Given the description of an element on the screen output the (x, y) to click on. 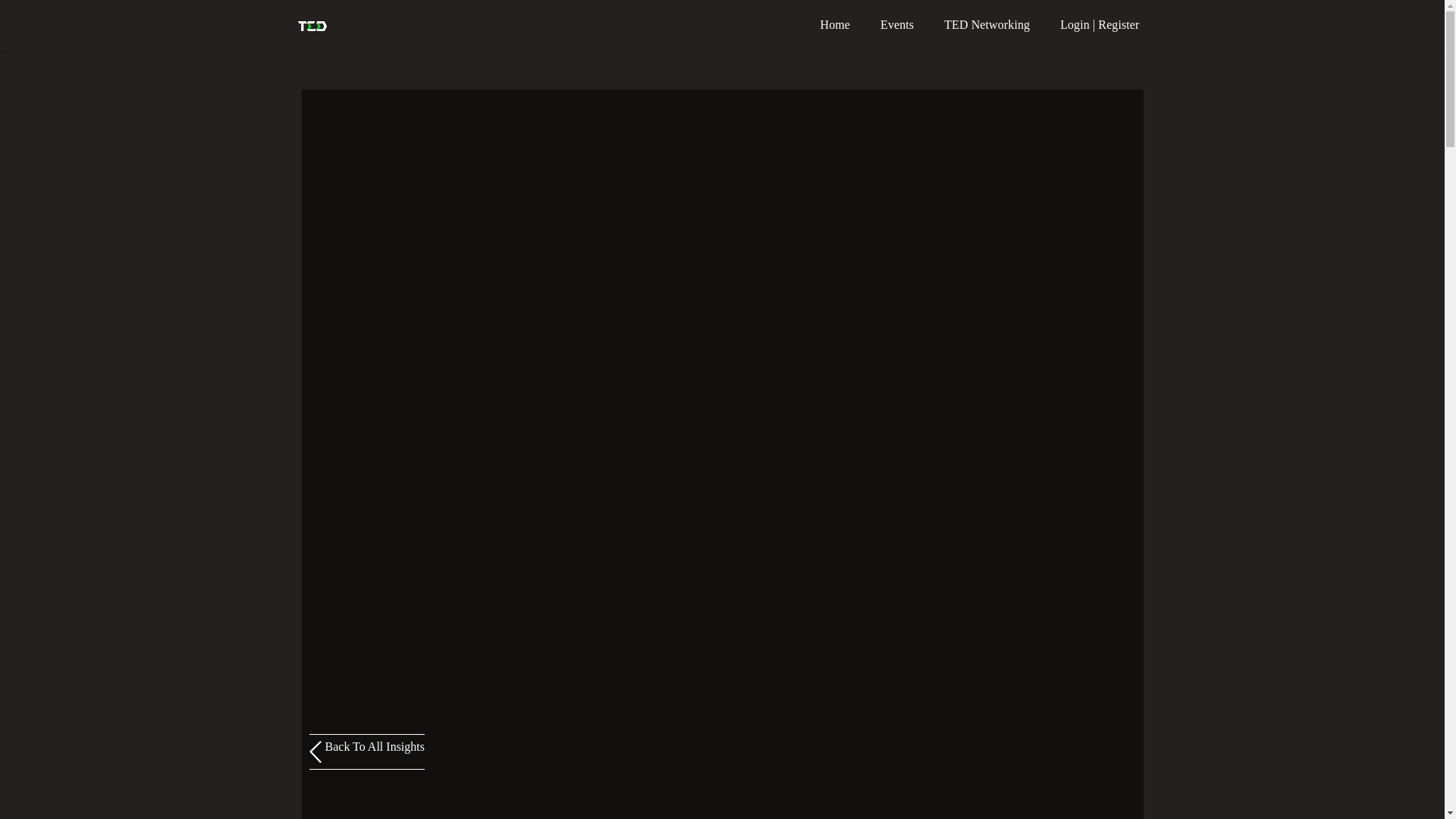
Back To All Insights (366, 751)
TED Networking (986, 24)
Home (835, 24)
Events (896, 24)
